Given the description of an element on the screen output the (x, y) to click on. 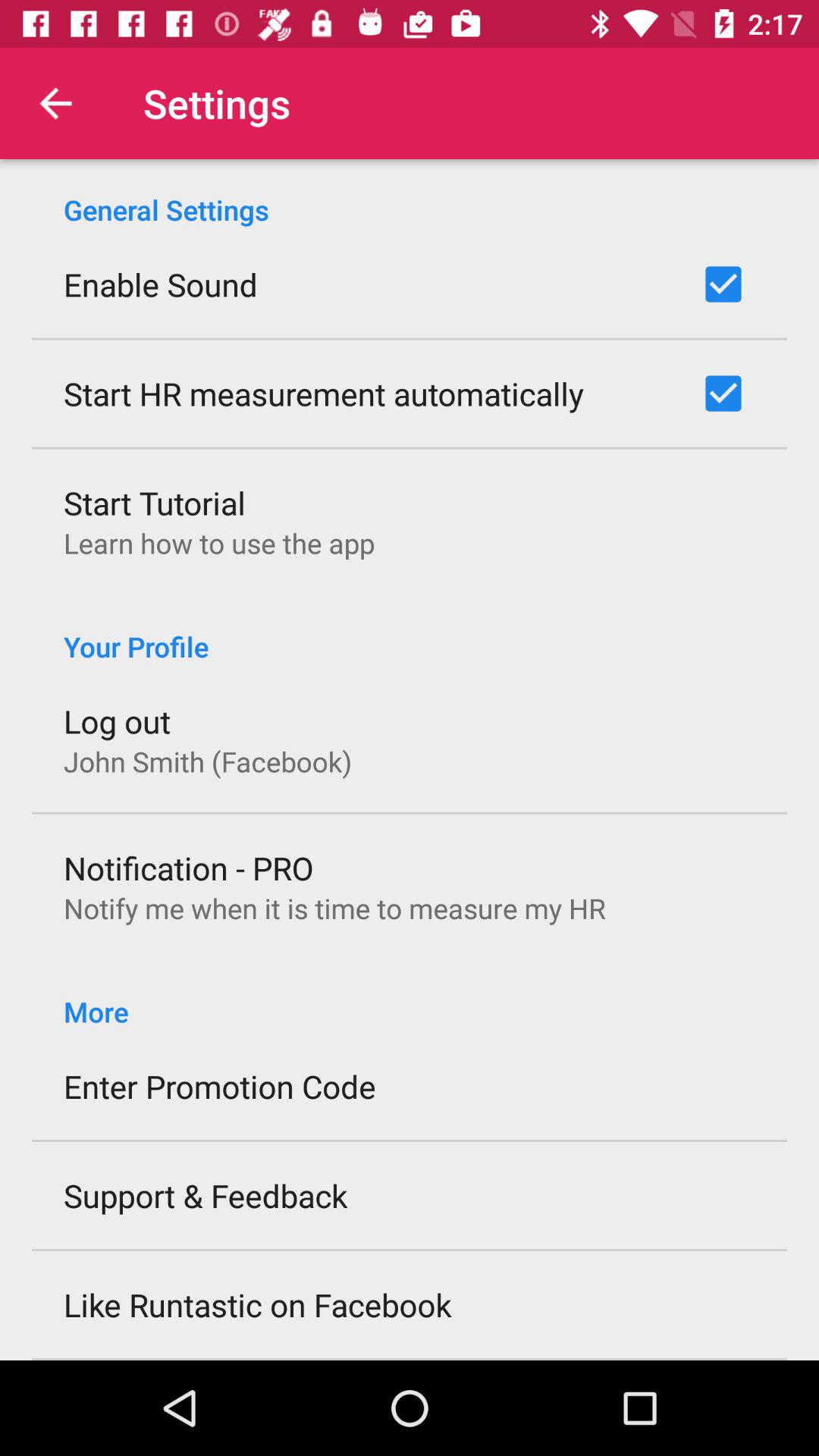
open your profile icon (409, 630)
